Given the description of an element on the screen output the (x, y) to click on. 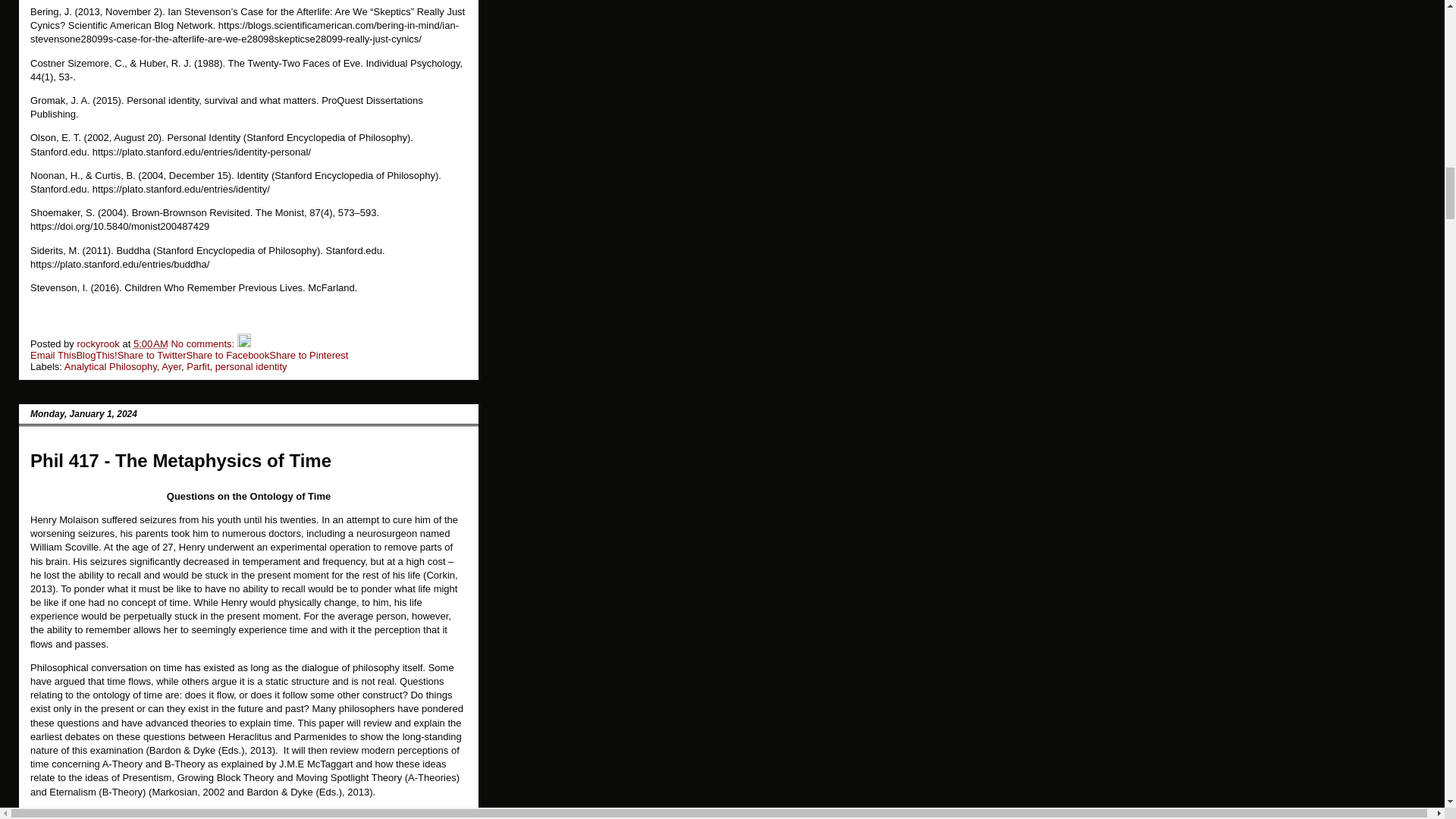
rockyrook (99, 343)
permanent link (150, 343)
Share to Facebook (227, 355)
personal identity (250, 366)
Email This (52, 355)
Share to Facebook (227, 355)
author profile (99, 343)
BlogThis! (95, 355)
Share to Twitter (151, 355)
Phil 417 - The Metaphysics of Time (180, 460)
Edit Post (243, 343)
Ayer (170, 366)
Email This (52, 355)
Share to Pinterest (308, 355)
